Given the description of an element on the screen output the (x, y) to click on. 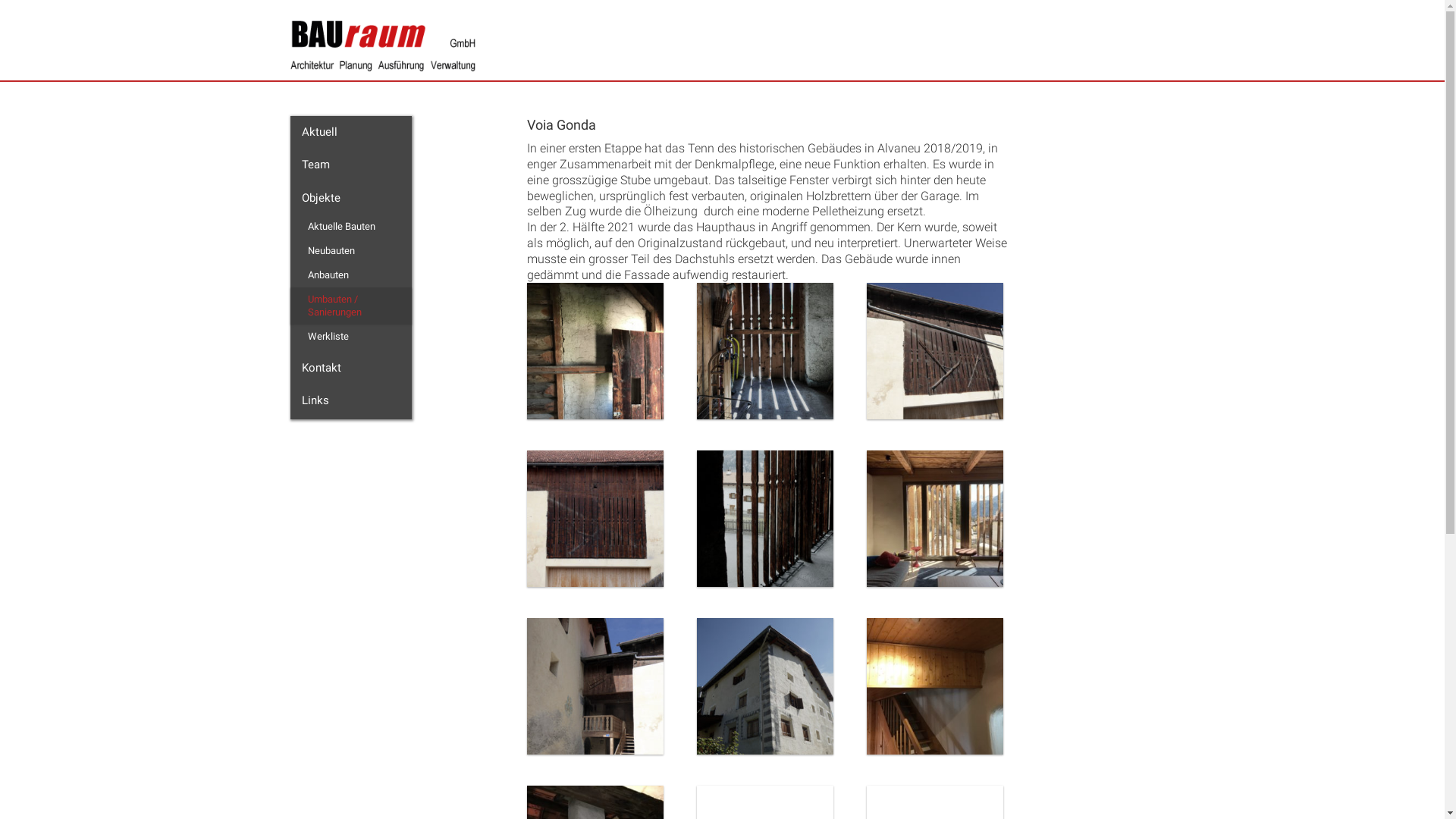
Objekte Element type: text (350, 198)
Umbauten / Sanierungen Element type: text (353, 305)
Links Element type: text (350, 400)
Neubauten Element type: text (353, 250)
Kontakt Element type: text (350, 368)
Aktuelle Bauten Element type: text (353, 226)
Werkliste Element type: text (353, 336)
Aktuell Element type: text (350, 132)
Anbauten Element type: text (353, 275)
Team Element type: text (350, 165)
